Given the description of an element on the screen output the (x, y) to click on. 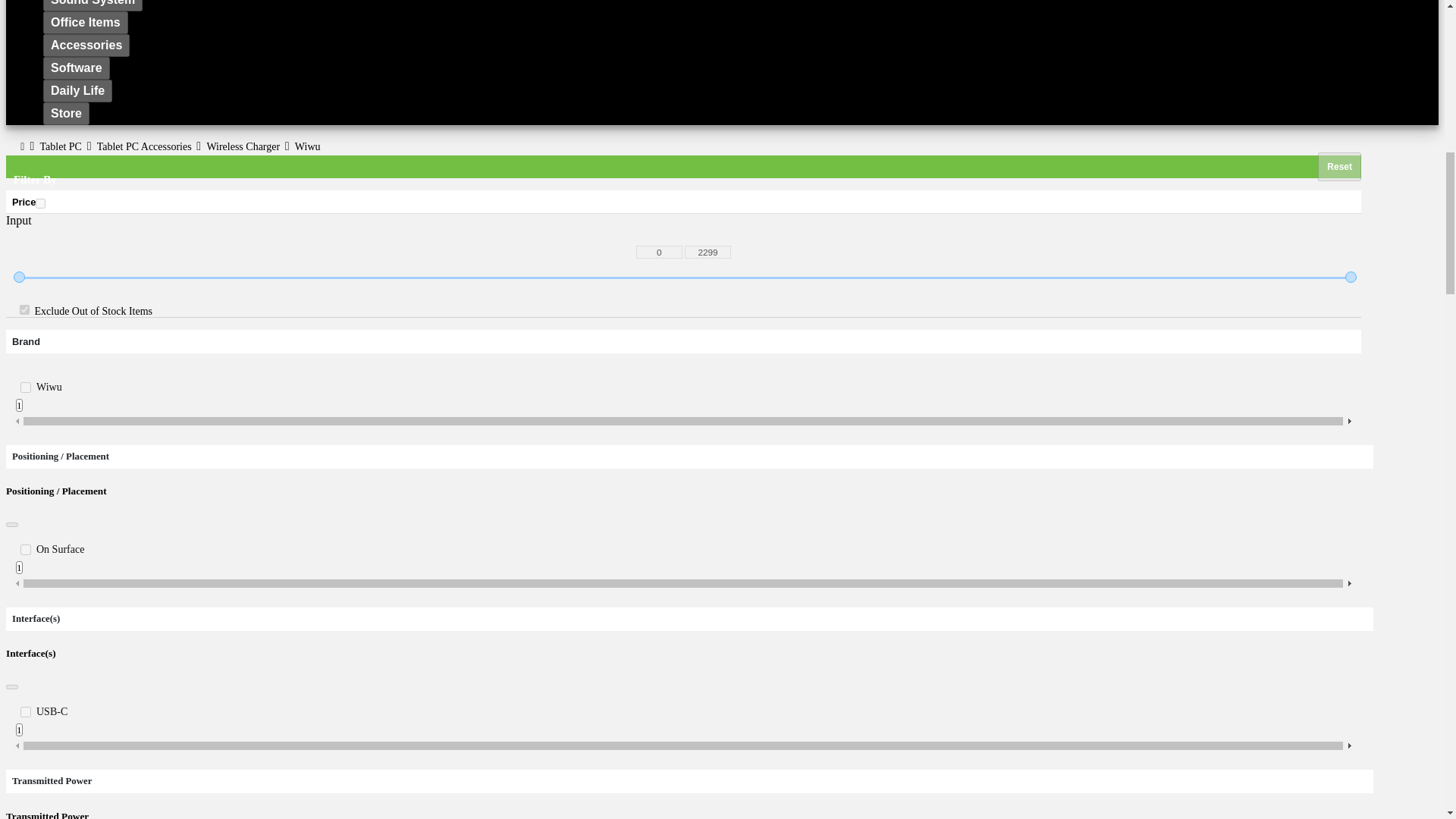
on (39, 203)
Reset (1339, 166)
0 (659, 251)
2299 (707, 251)
331 (25, 387)
1 (24, 309)
